Given the description of an element on the screen output the (x, y) to click on. 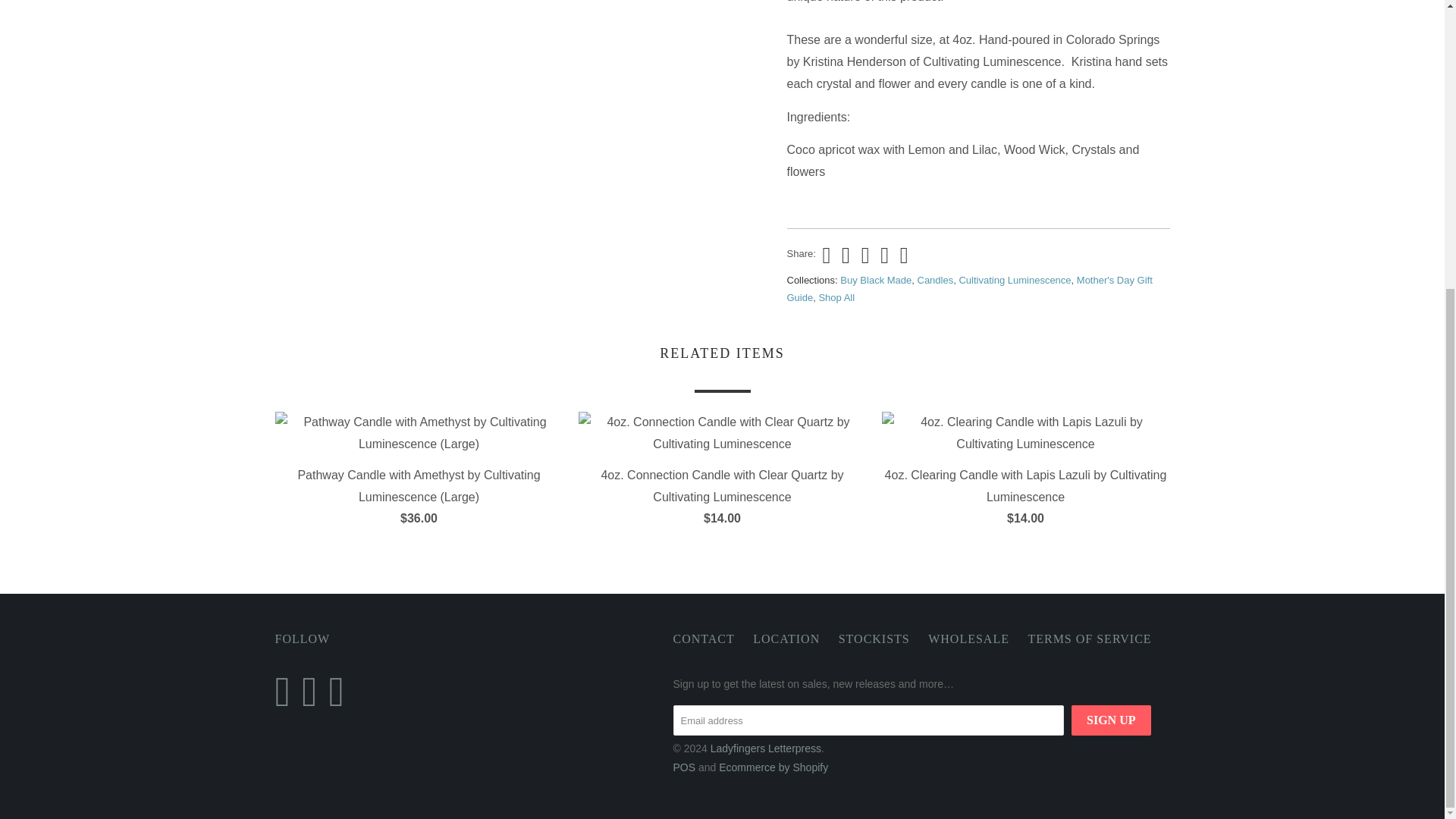
Buy Black Made (875, 279)
Cultivating Luminescence (1014, 279)
Sign Up (1110, 720)
Candles (935, 279)
Mother's Day Gift Guide (970, 288)
